Given the description of an element on the screen output the (x, y) to click on. 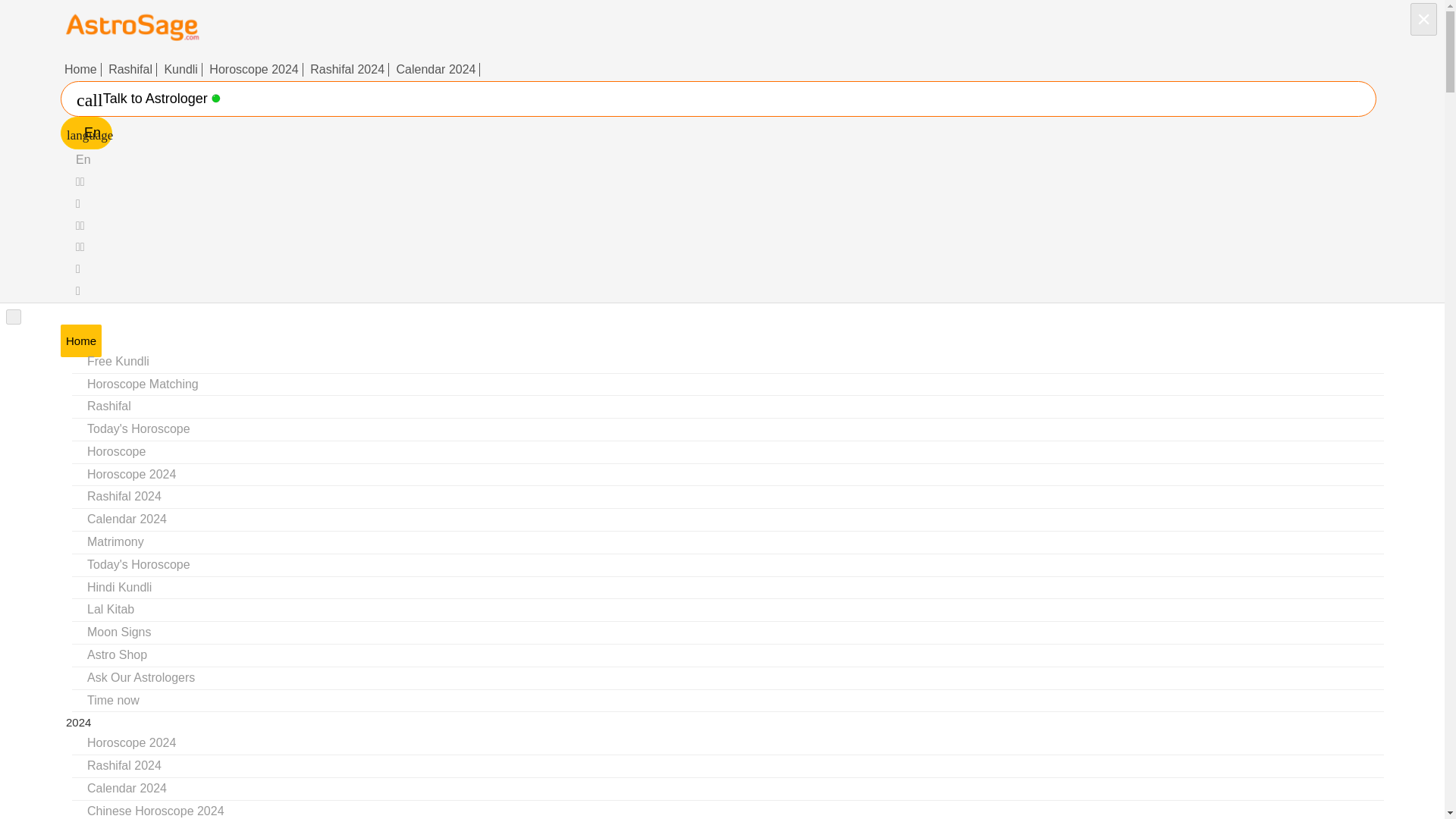
Rashifal (130, 69)
Matrimony (114, 541)
Home (81, 69)
En (83, 159)
Today's Horoscope (138, 428)
Kundli (181, 69)
Free Kundli (117, 361)
Horoscope 2024 (253, 69)
Rashifal (109, 405)
Calendar 2024 (436, 69)
Telugu (78, 203)
AstroSageMarriage.com: Free Matrimony - Shaadi (114, 541)
Get your daily rashifal in hindi (109, 405)
Marathi (78, 290)
Bengali (80, 225)
